Given the description of an element on the screen output the (x, y) to click on. 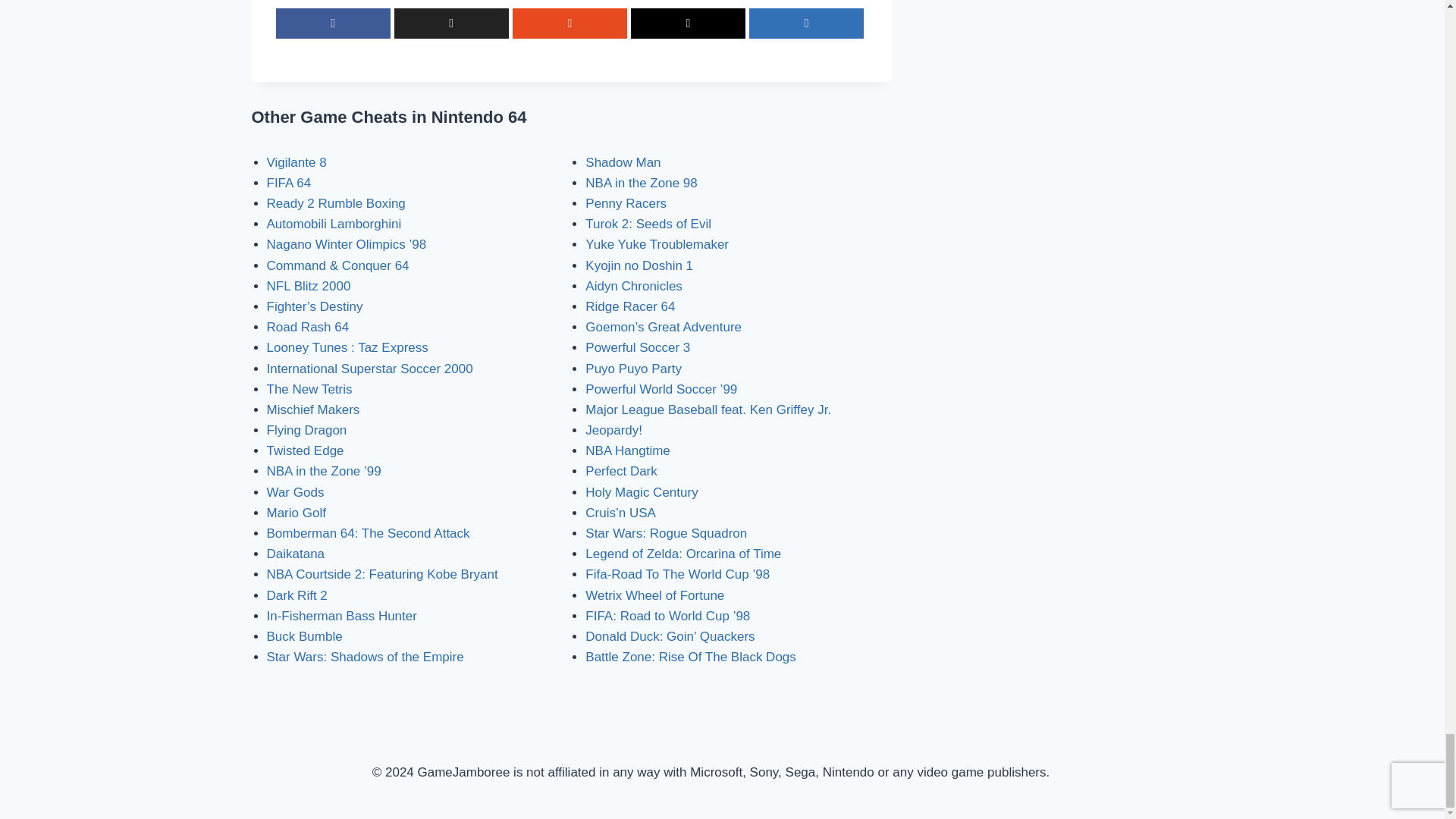
Flying Dragon (306, 430)
Bomberman 64: The Second Attack (368, 533)
NFL Blitz 2000 (308, 286)
The New Tetris (309, 389)
War Gods (295, 492)
Twisted Edge (304, 450)
Mario Golf (296, 513)
FIFA 64 (288, 183)
Vigilante 8 (296, 162)
Ready 2 Rumble Boxing (336, 203)
